Given the description of an element on the screen output the (x, y) to click on. 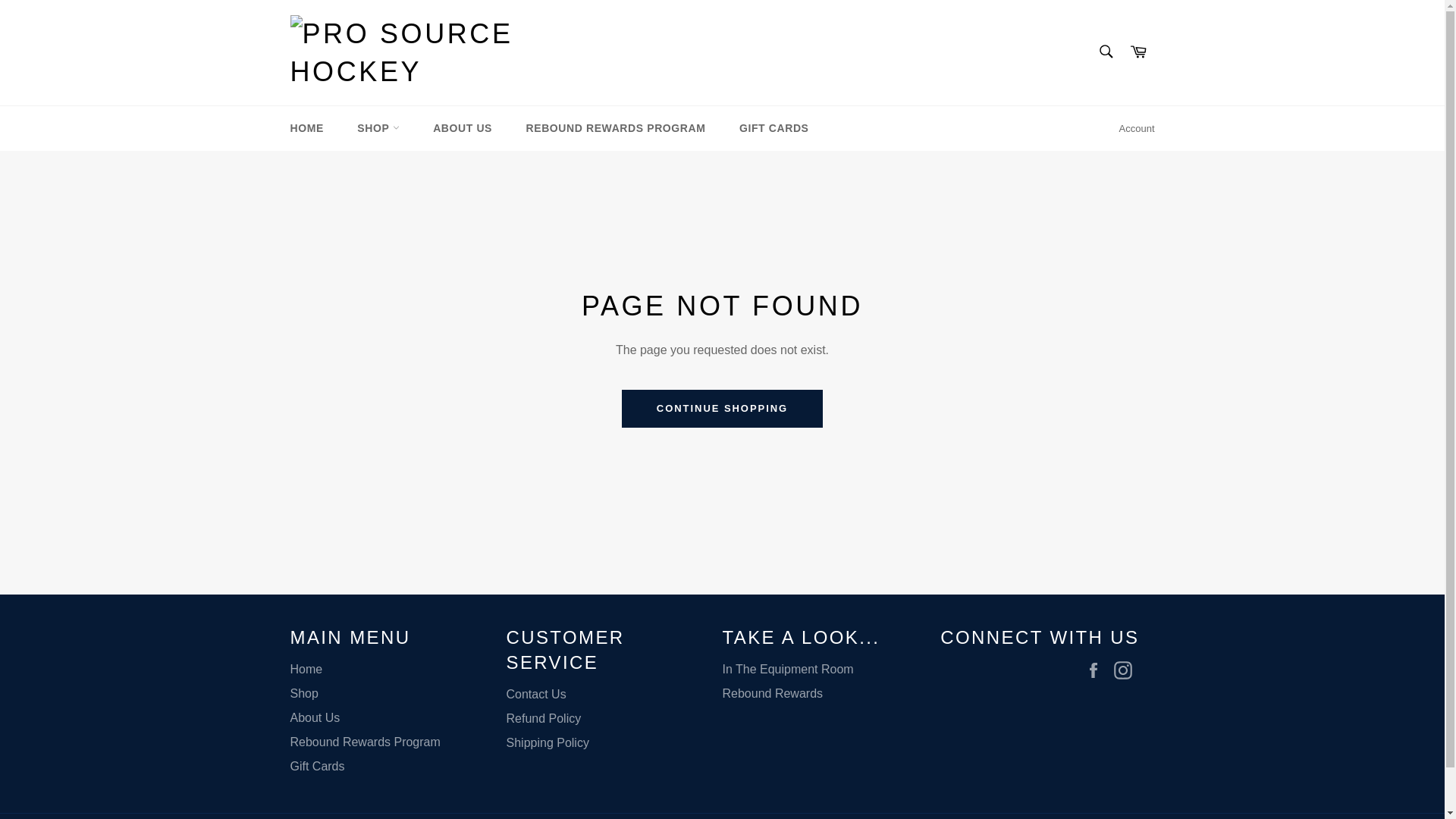
Search (1104, 51)
REBOUND REWARDS PROGRAM (615, 128)
HOME (306, 128)
GIFT CARDS (773, 128)
Account (1136, 128)
Cart (1138, 52)
SHOP (377, 128)
Pro Source Hockey on Instagram (1125, 669)
ABOUT US (461, 128)
Pro Source Hockey on Facebook (1096, 669)
